Given the description of an element on the screen output the (x, y) to click on. 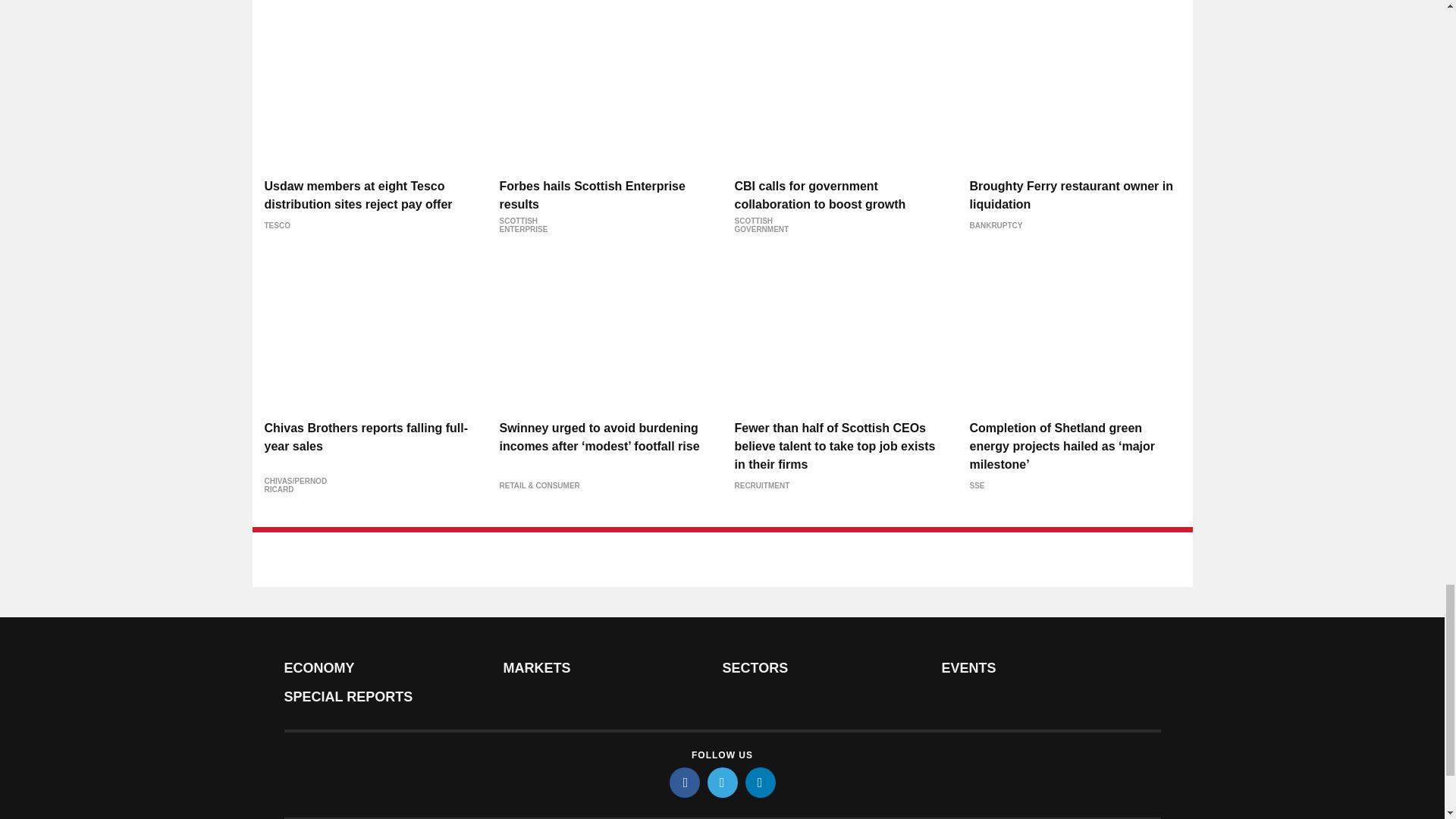
facebook (683, 782)
twitter (721, 782)
linkedin (759, 782)
